Given the description of an element on the screen output the (x, y) to click on. 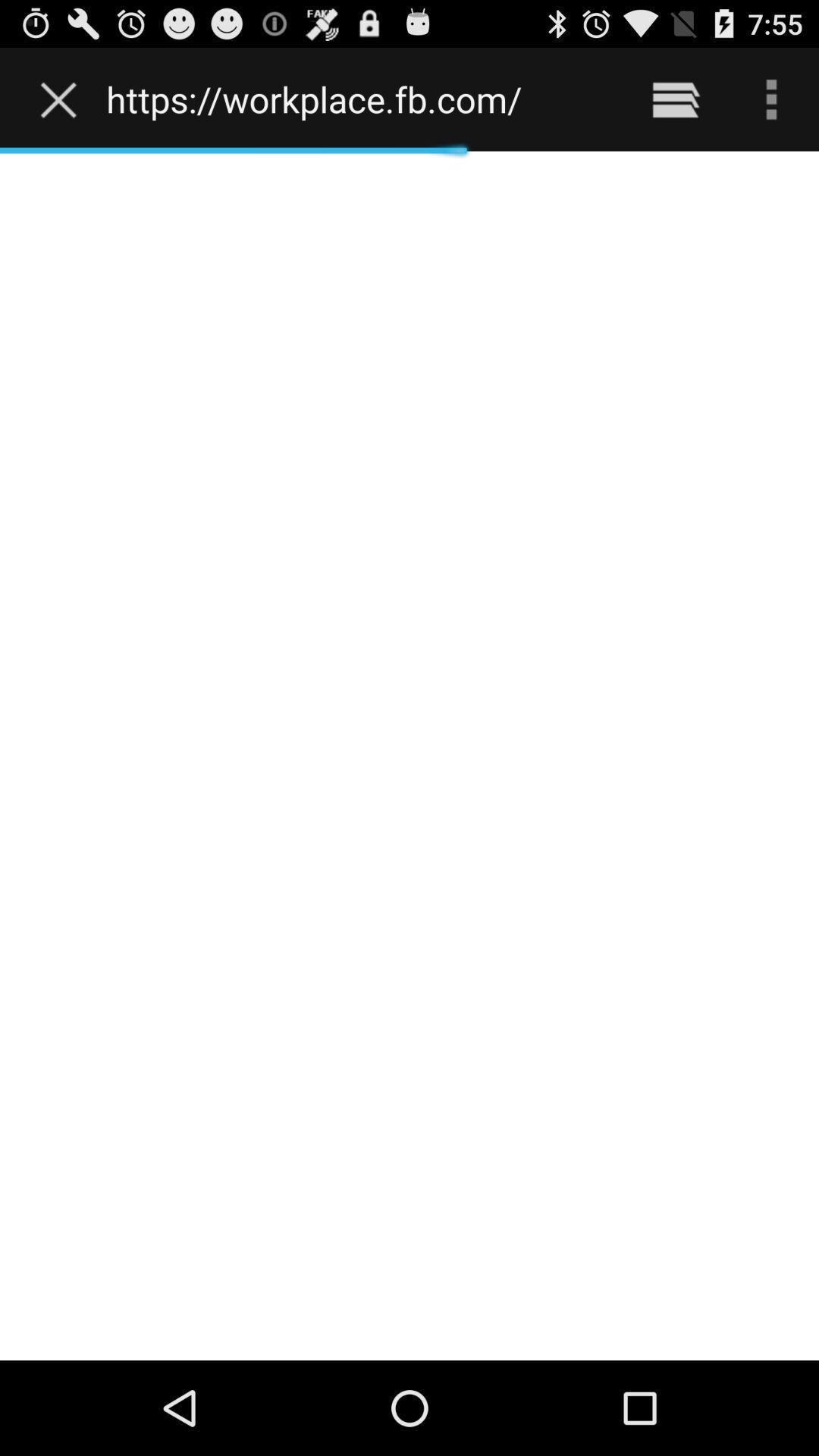
launch the icon below the https workplace fb icon (409, 755)
